Given the description of an element on the screen output the (x, y) to click on. 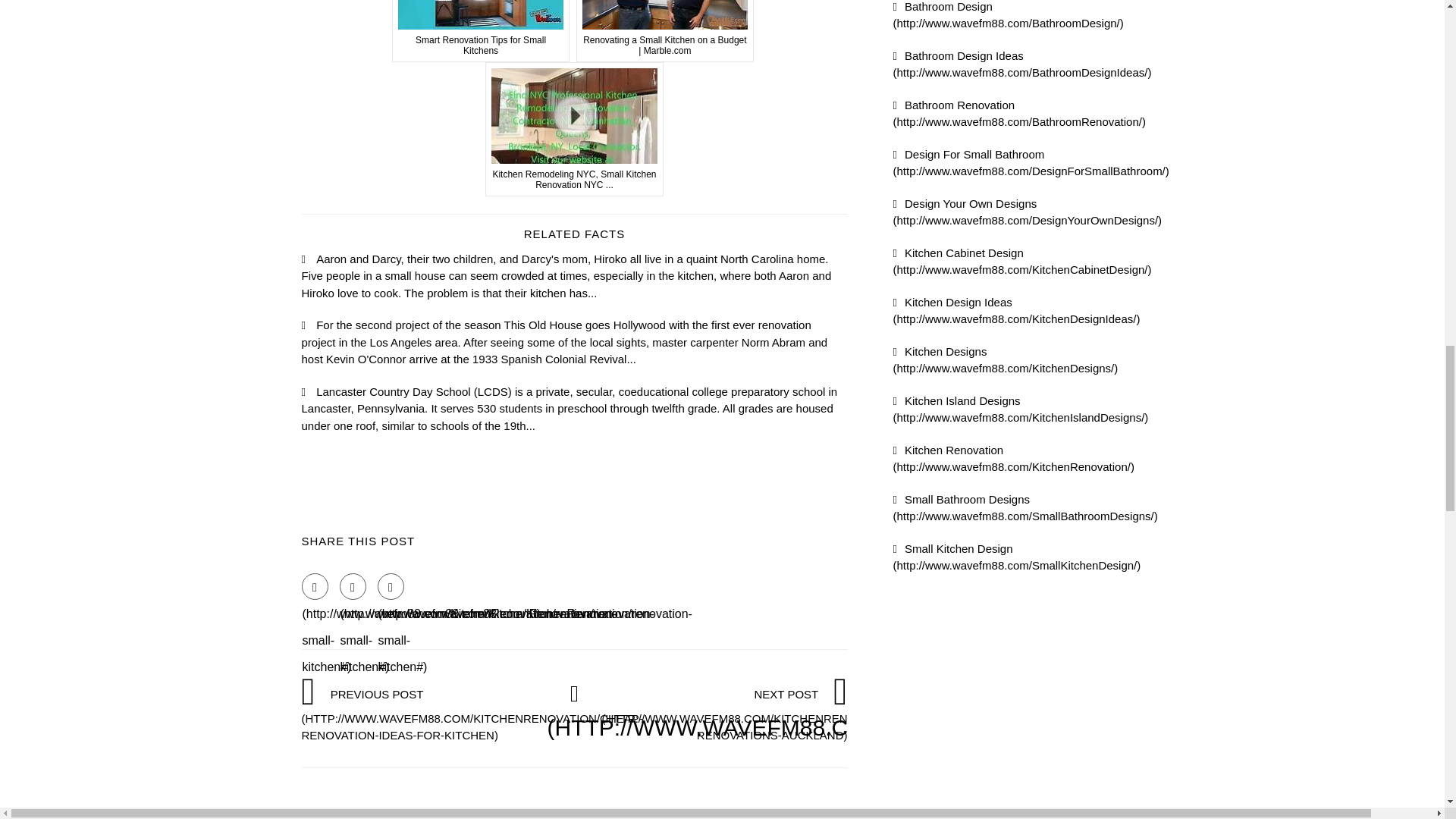
NEXT POST (777, 714)
PREVIOUS POST (472, 714)
View all posts filed under Bathroom Design Ideas (1022, 63)
View all posts filed under Bathroom Design (1008, 15)
View this video from YouTube (573, 129)
View this video from YouTube (665, 31)
View all posts filed under Design Your Own Designs (1027, 212)
View this video from Vimeo (480, 31)
View all posts filed under Bathroom Renovation (1019, 113)
View all posts filed under Kitchen Cabinet Design (1022, 260)
